Given the description of an element on the screen output the (x, y) to click on. 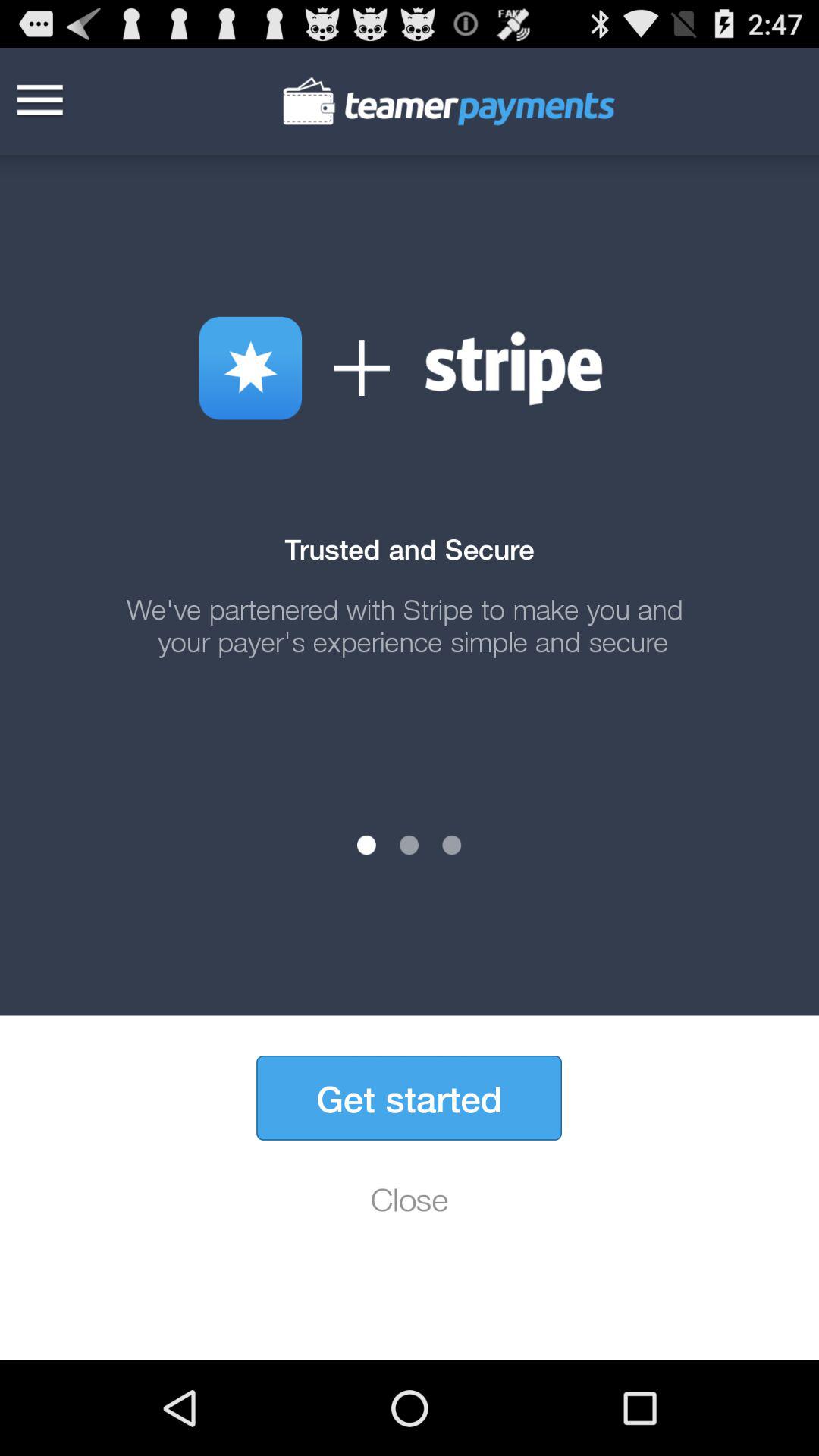
launch the close item (409, 1199)
